Given the description of an element on the screen output the (x, y) to click on. 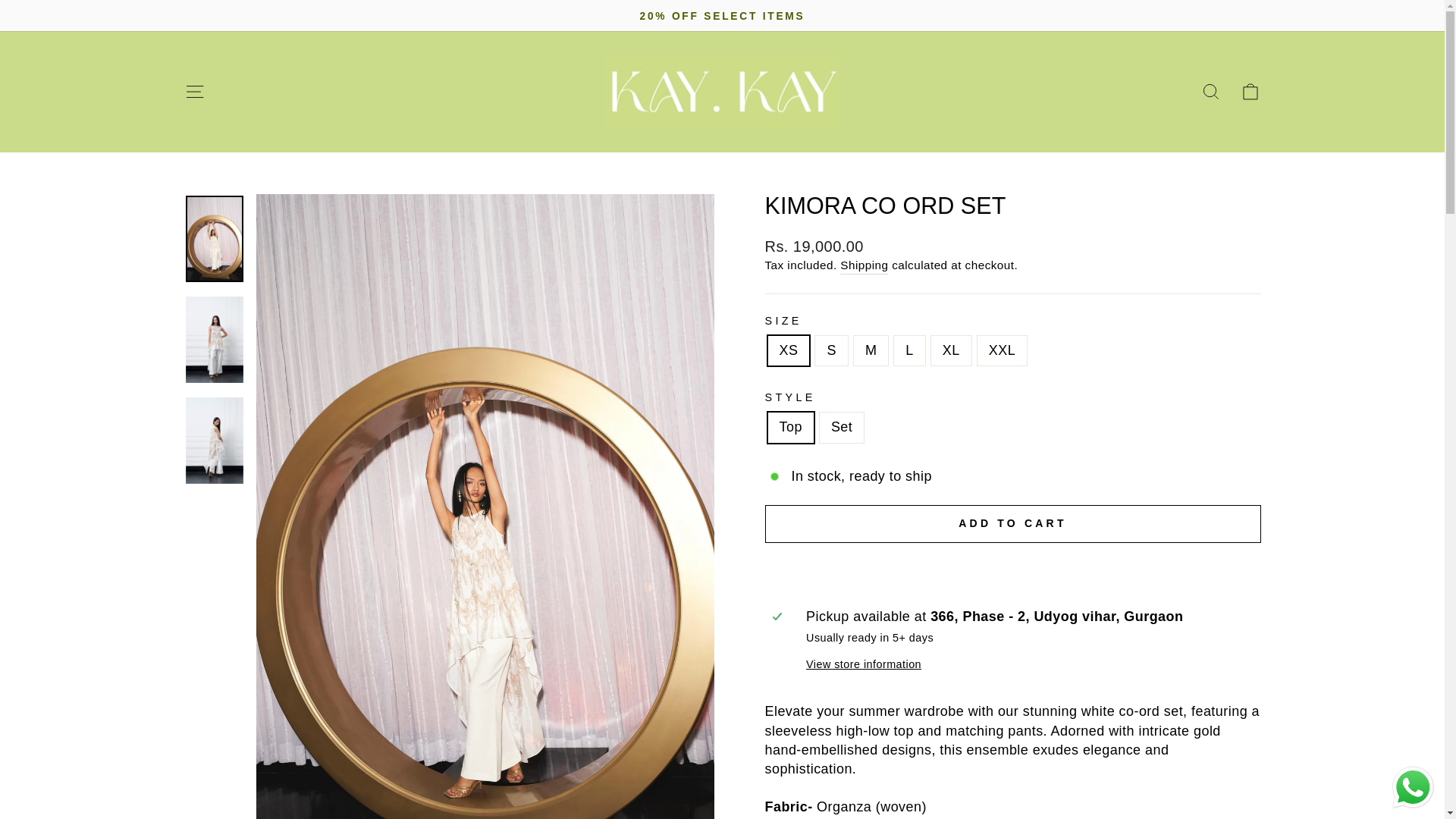
XXL (1249, 92)
Top (1249, 91)
XS (1210, 92)
L (1210, 91)
